Given the description of an element on the screen output the (x, y) to click on. 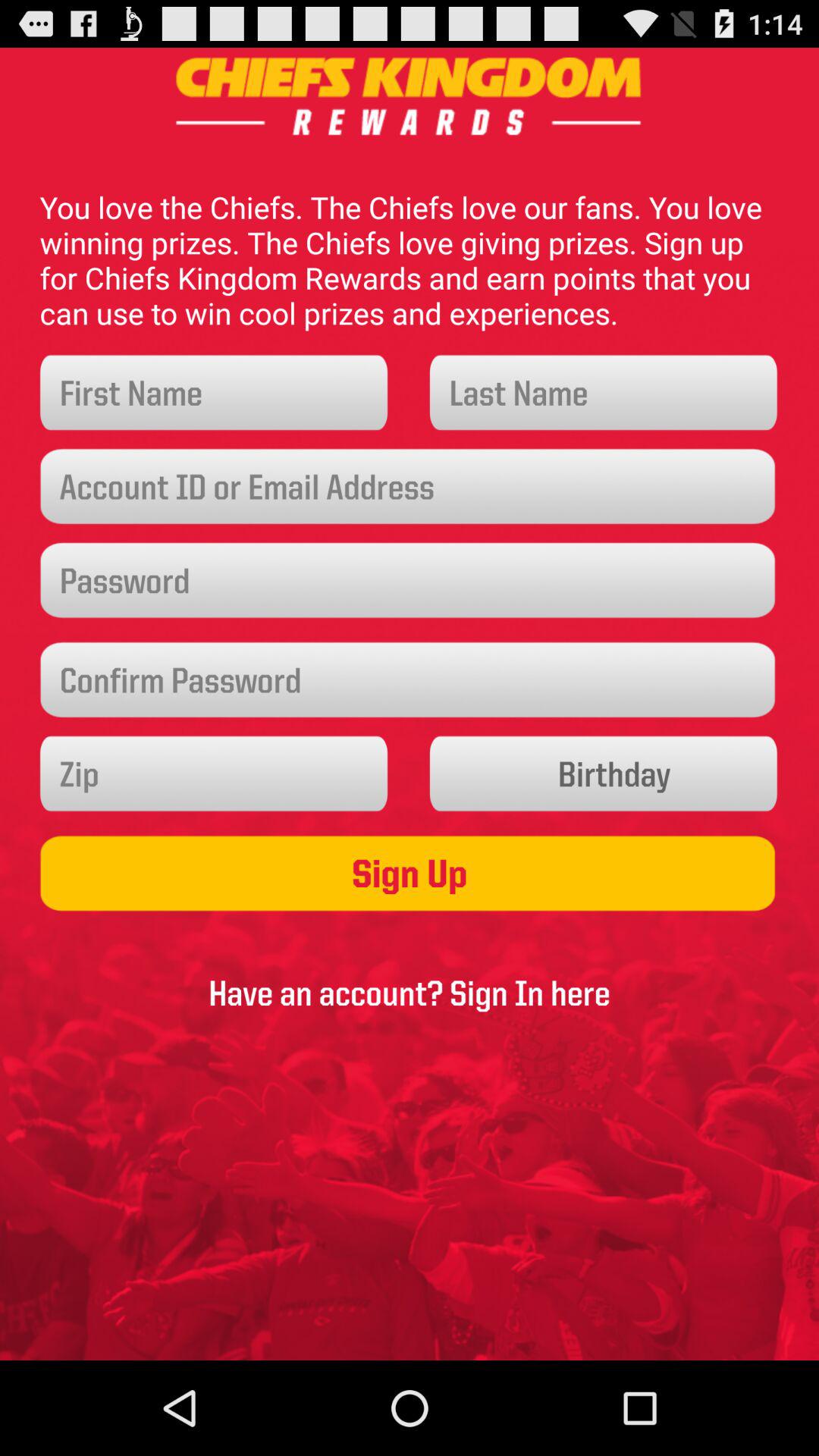
enter last name (604, 392)
